Given the description of an element on the screen output the (x, y) to click on. 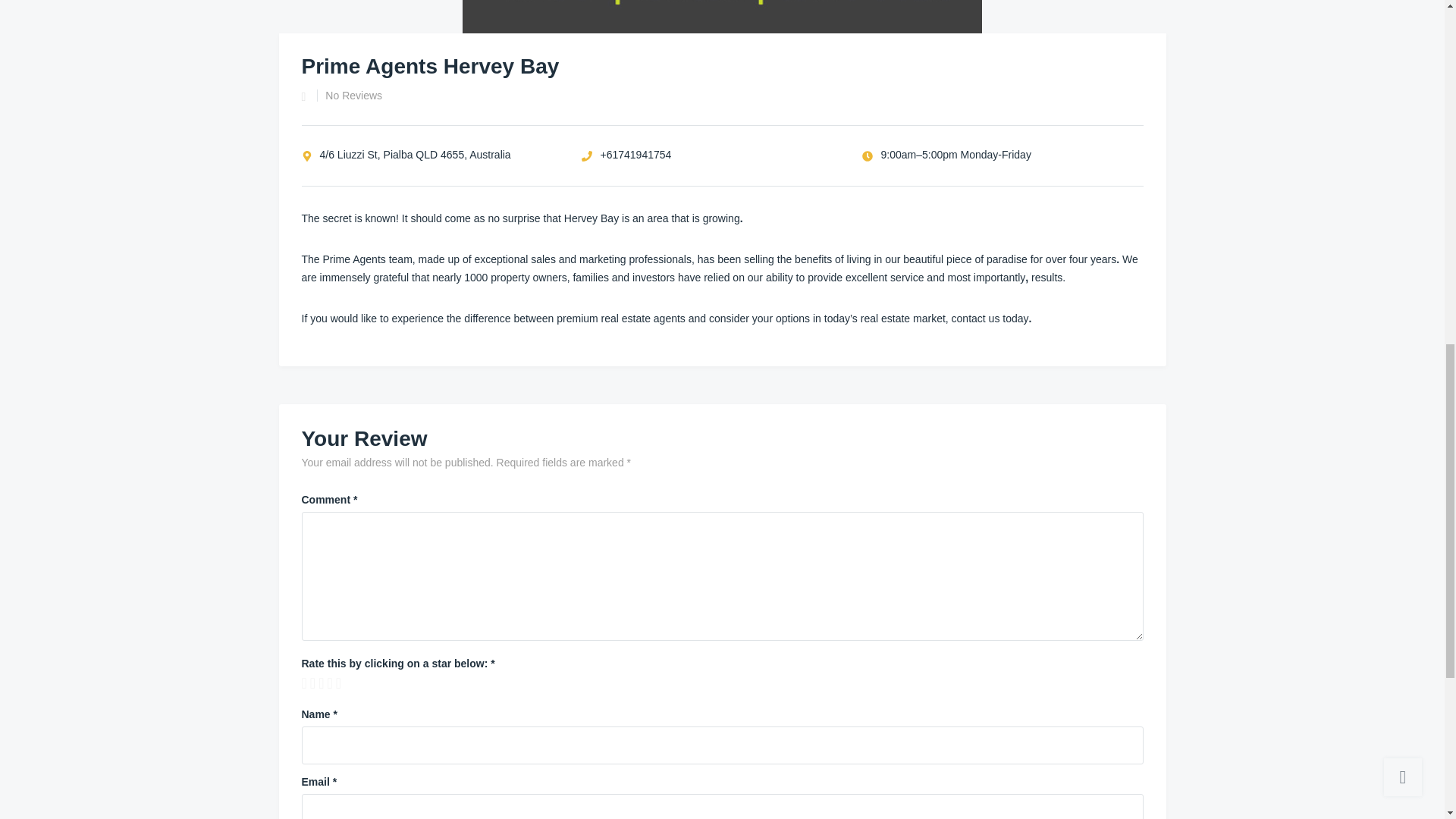
No Reviews (349, 95)
